Given the description of an element on the screen output the (x, y) to click on. 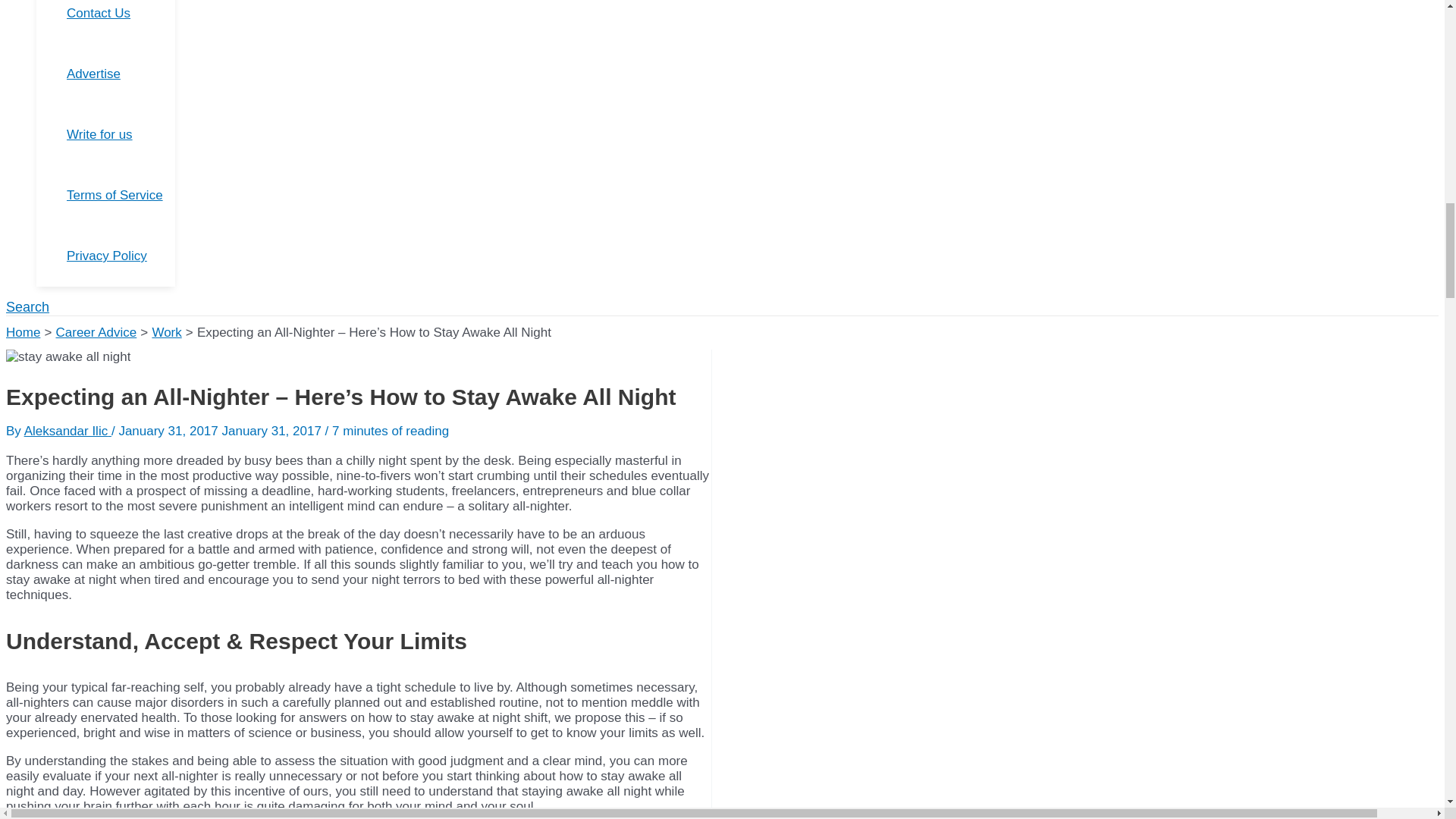
Search (27, 307)
Terms of Service (120, 195)
Write for us (120, 134)
Advertise (120, 74)
View all posts by Aleksandar Ilic (68, 431)
Privacy Policy (120, 256)
Contact Us (120, 22)
